Given the description of an element on the screen output the (x, y) to click on. 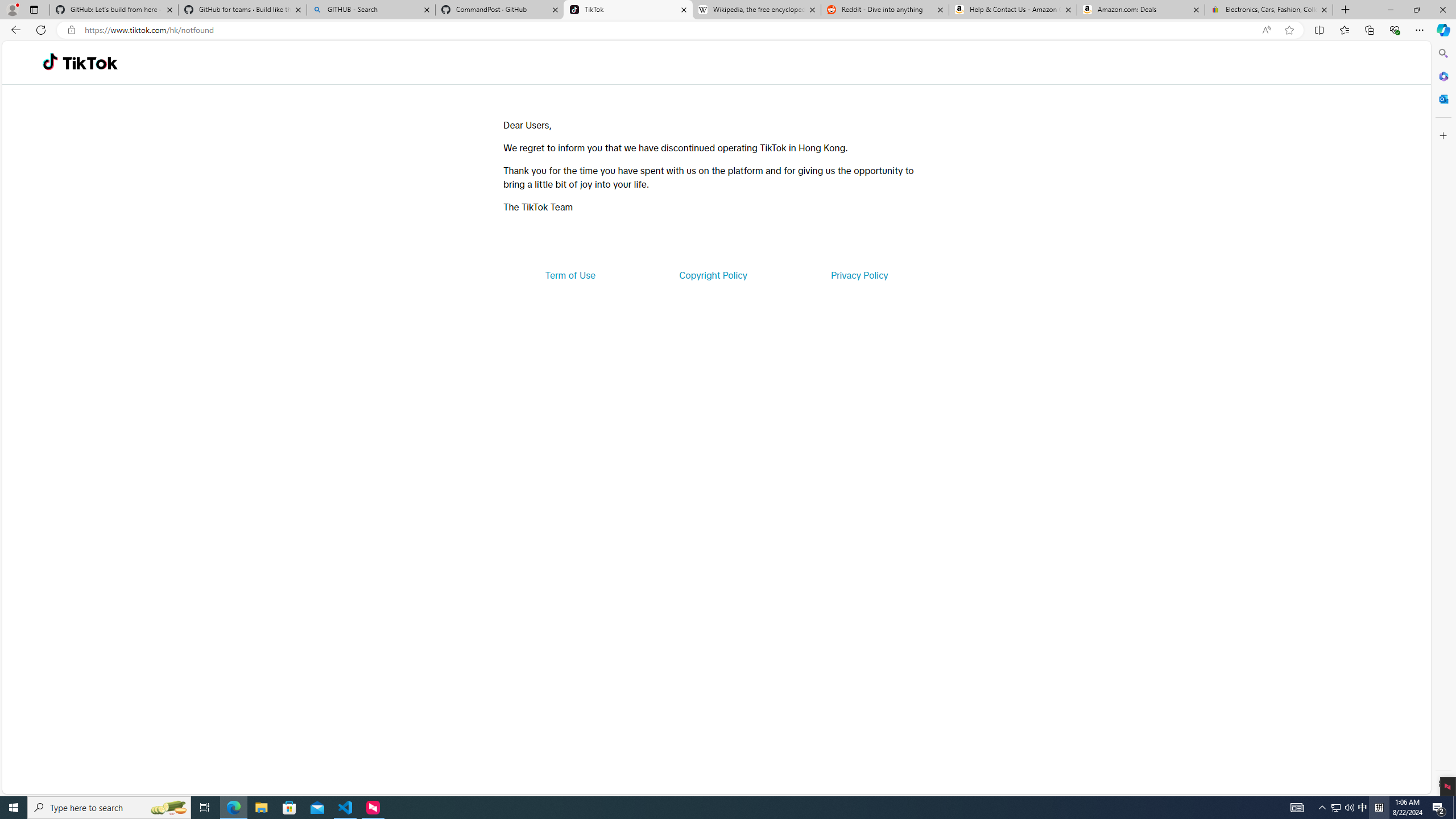
Read aloud this page (Ctrl+Shift+U) (1266, 29)
Wikipedia, the free encyclopedia (756, 9)
Address and search bar (669, 29)
Refresh (40, 29)
Electronics, Cars, Fashion, Collectibles & More | eBay (1268, 9)
Close (1442, 9)
